Given the description of an element on the screen output the (x, y) to click on. 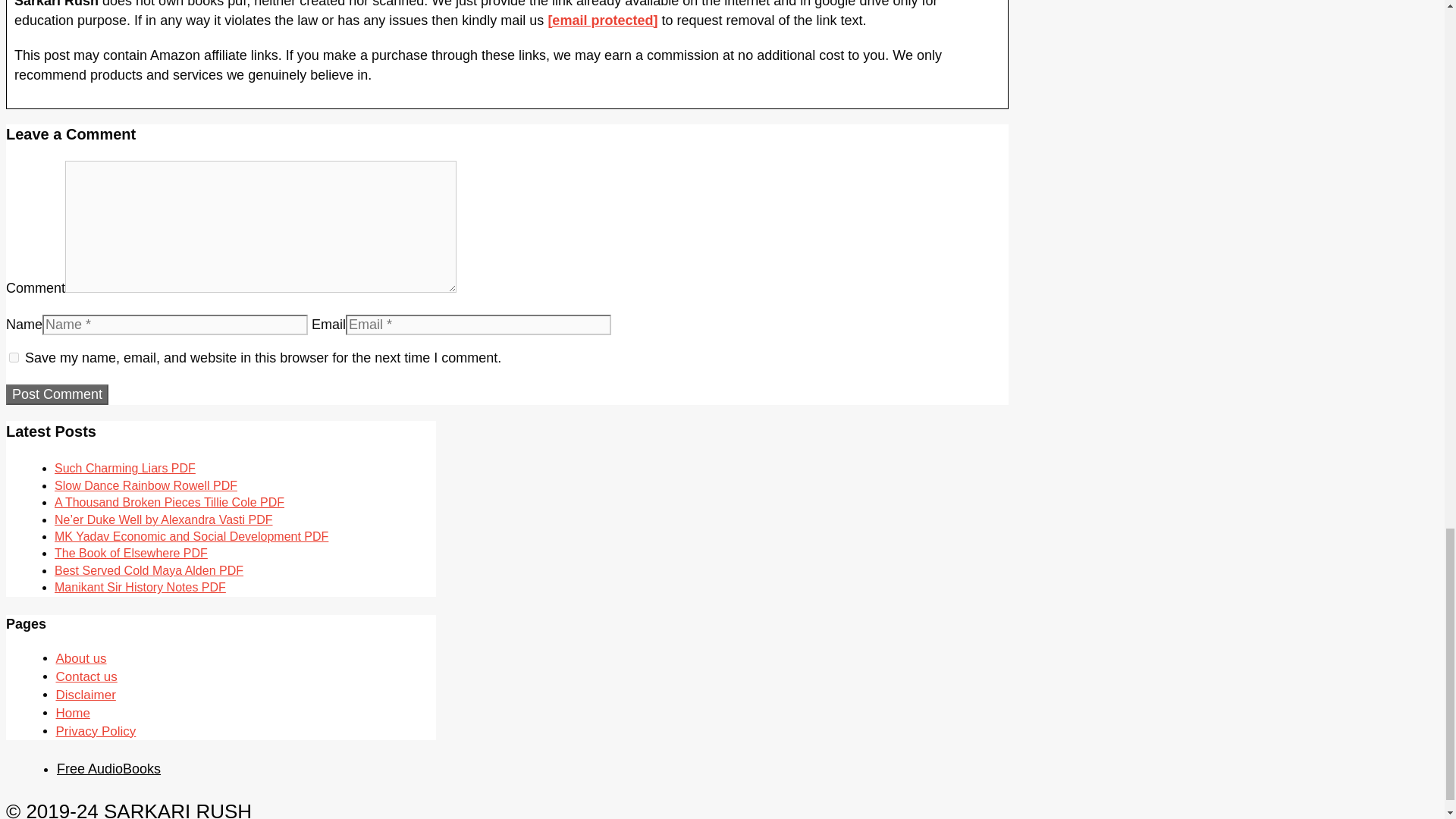
Slow Dance Rainbow Rowell PDF (146, 485)
Post Comment (56, 394)
Manikant Sir History Notes PDF (140, 586)
Post Comment (56, 394)
Best Served Cold Maya Alden PDF (149, 570)
yes (13, 357)
MK Yadav Economic and Social Development PDF (192, 535)
Such Charming Liars PDF (125, 468)
A Thousand Broken Pieces Tillie Cole PDF (169, 502)
The Book of Elsewhere PDF (131, 553)
